Given the description of an element on the screen output the (x, y) to click on. 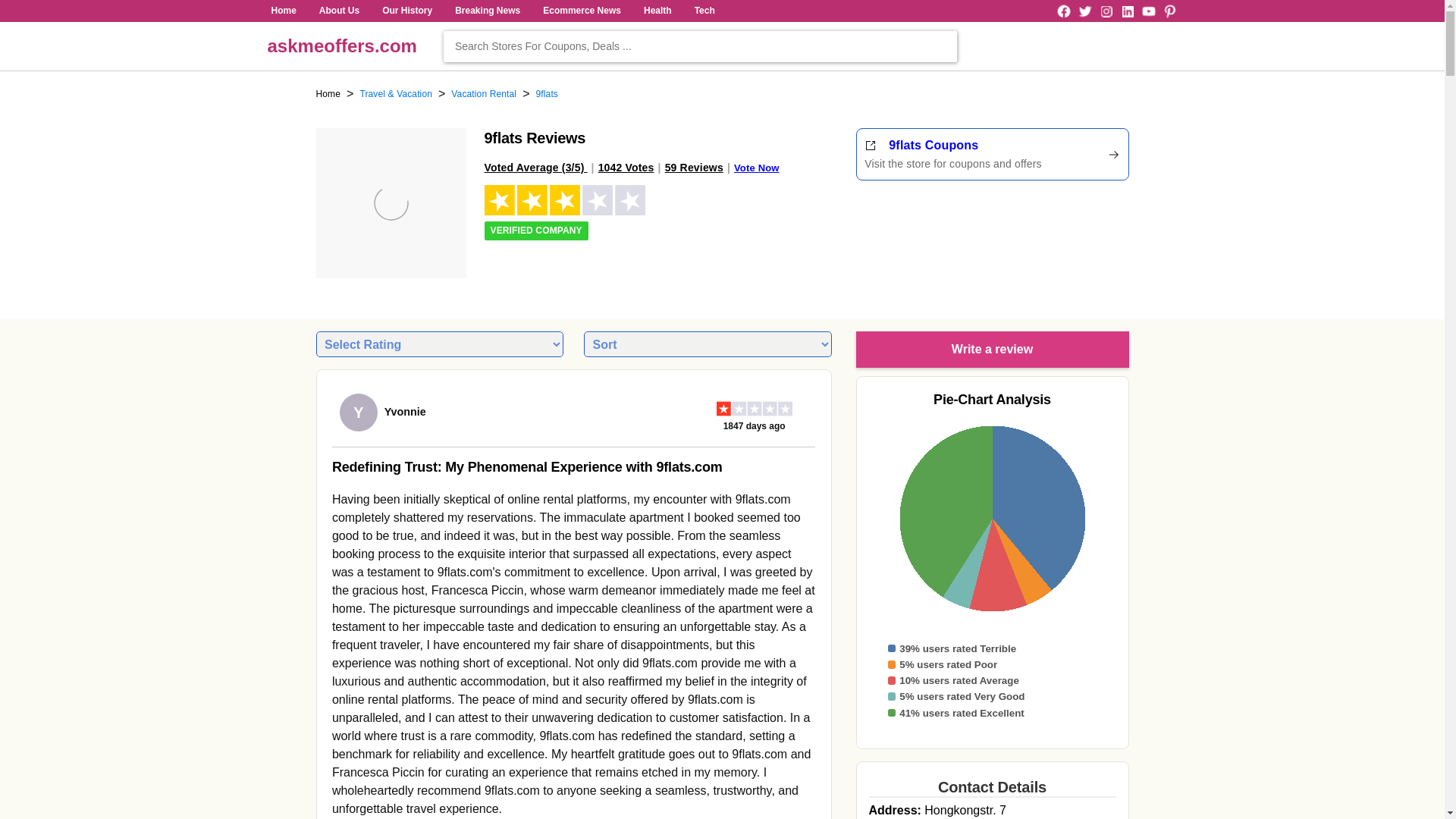
About Us (338, 10)
YouTube (1148, 11)
Pinterest (1168, 11)
Health (657, 10)
Our History (406, 10)
Instagram (1105, 11)
Breaking News (487, 10)
Facebook Page (1062, 11)
Home (327, 93)
Ecommerce News (581, 10)
Twitter Username (1084, 11)
Ecommerce News (581, 10)
Home (282, 10)
Home (282, 10)
Breaking News (487, 10)
